Given the description of an element on the screen output the (x, y) to click on. 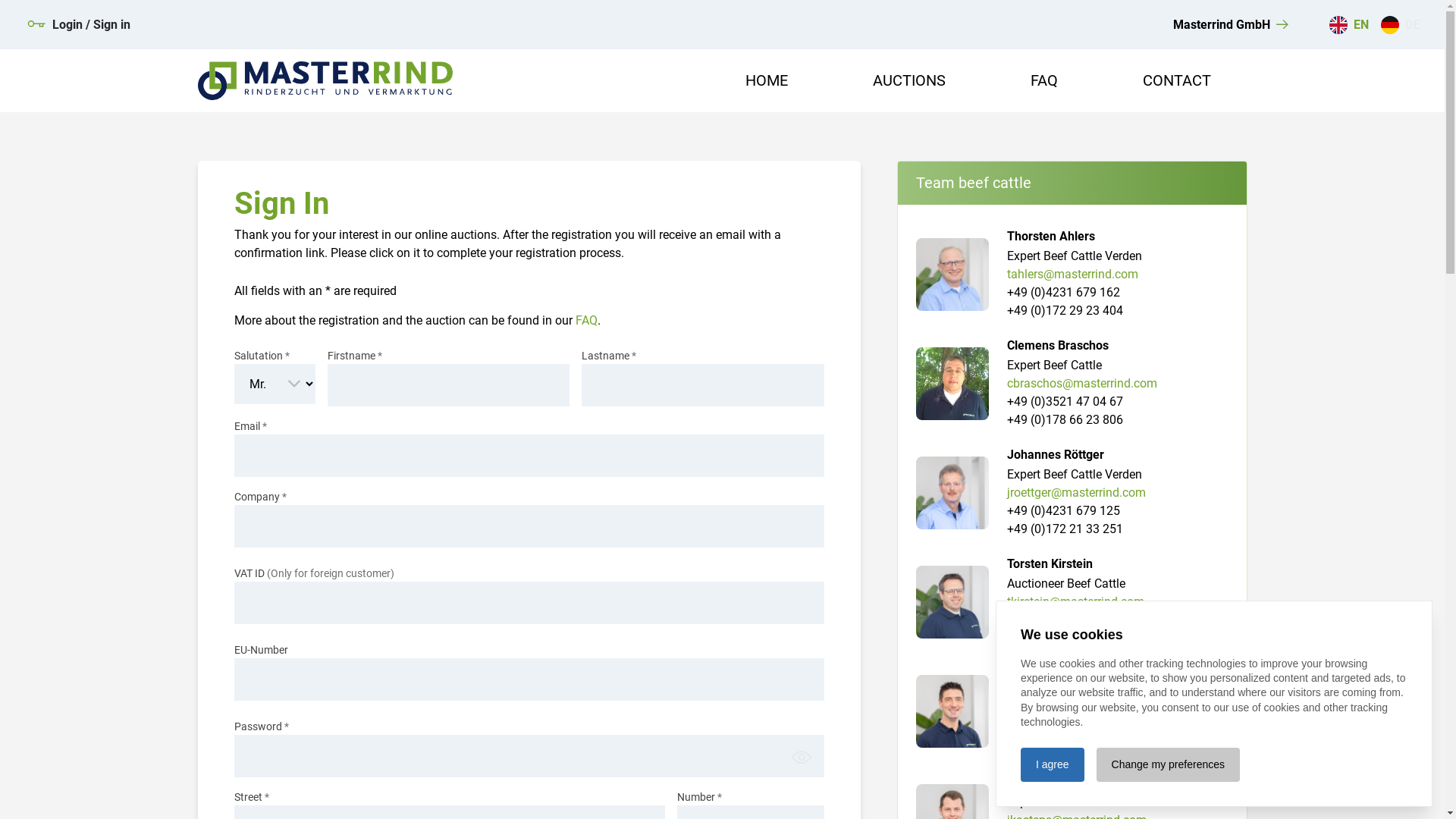
DE Element type: text (1400, 24)
FAQ Element type: text (585, 320)
Change my preferences Element type: text (1167, 764)
Masterrind GmbH Element type: text (1232, 24)
tahlers@masterrind.com Element type: text (1072, 273)
jroettger@masterrind.com Element type: text (1076, 492)
HOME Element type: text (765, 80)
tkirstein@masterrind.com Element type: text (1075, 601)
I agree Element type: text (1052, 764)
AUCTIONS Element type: text (908, 80)
theimsoth@masterrind.com Element type: text (1081, 710)
EN Element type: text (1348, 24)
FAQ Element type: text (1043, 80)
CONTACT Element type: text (1175, 80)
Login / Sign in Element type: text (78, 24)
cbraschos@masterrind.com Element type: text (1082, 383)
